Given the description of an element on the screen output the (x, y) to click on. 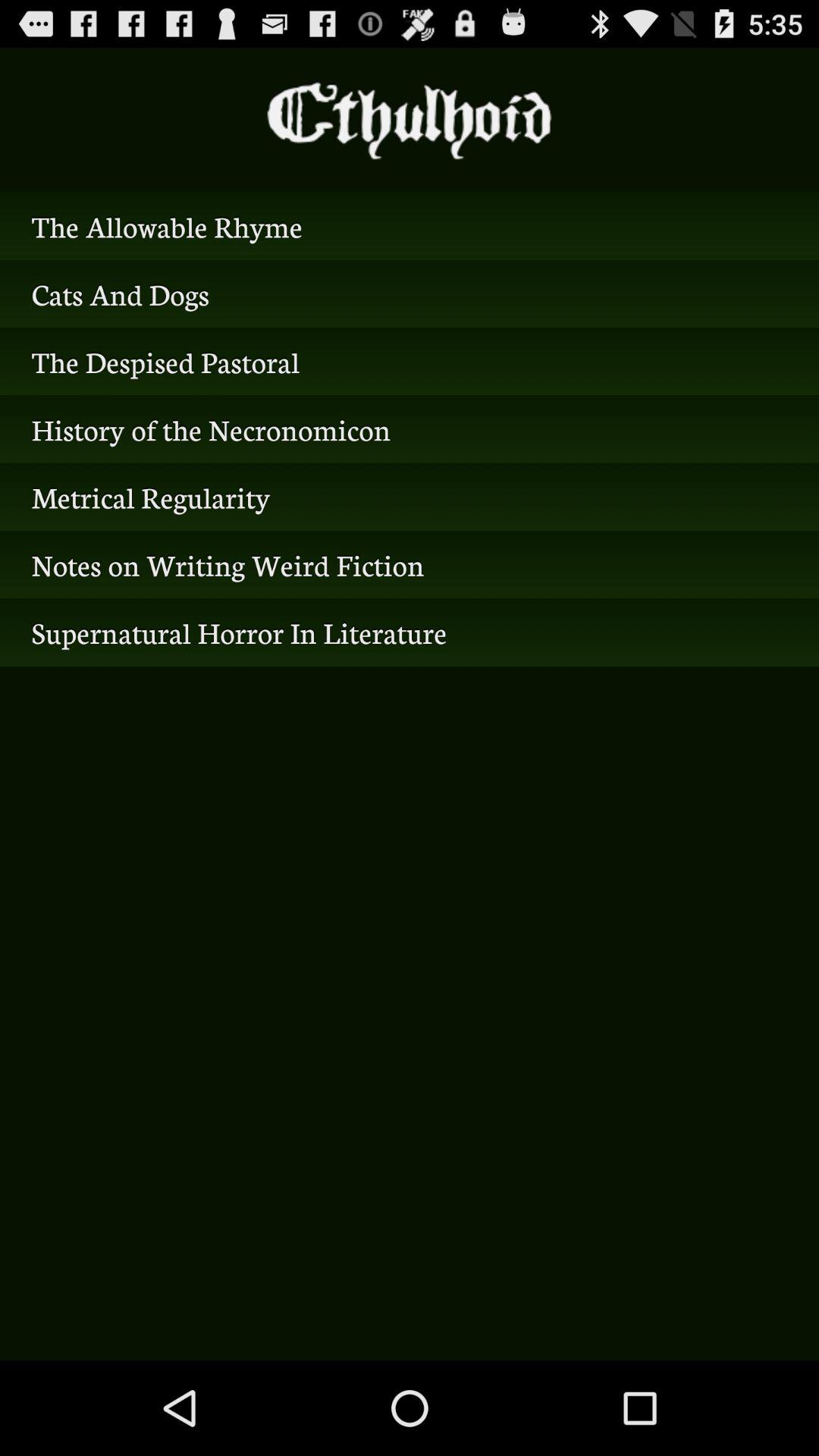
select metrical regularity icon (409, 496)
